Given the description of an element on the screen output the (x, y) to click on. 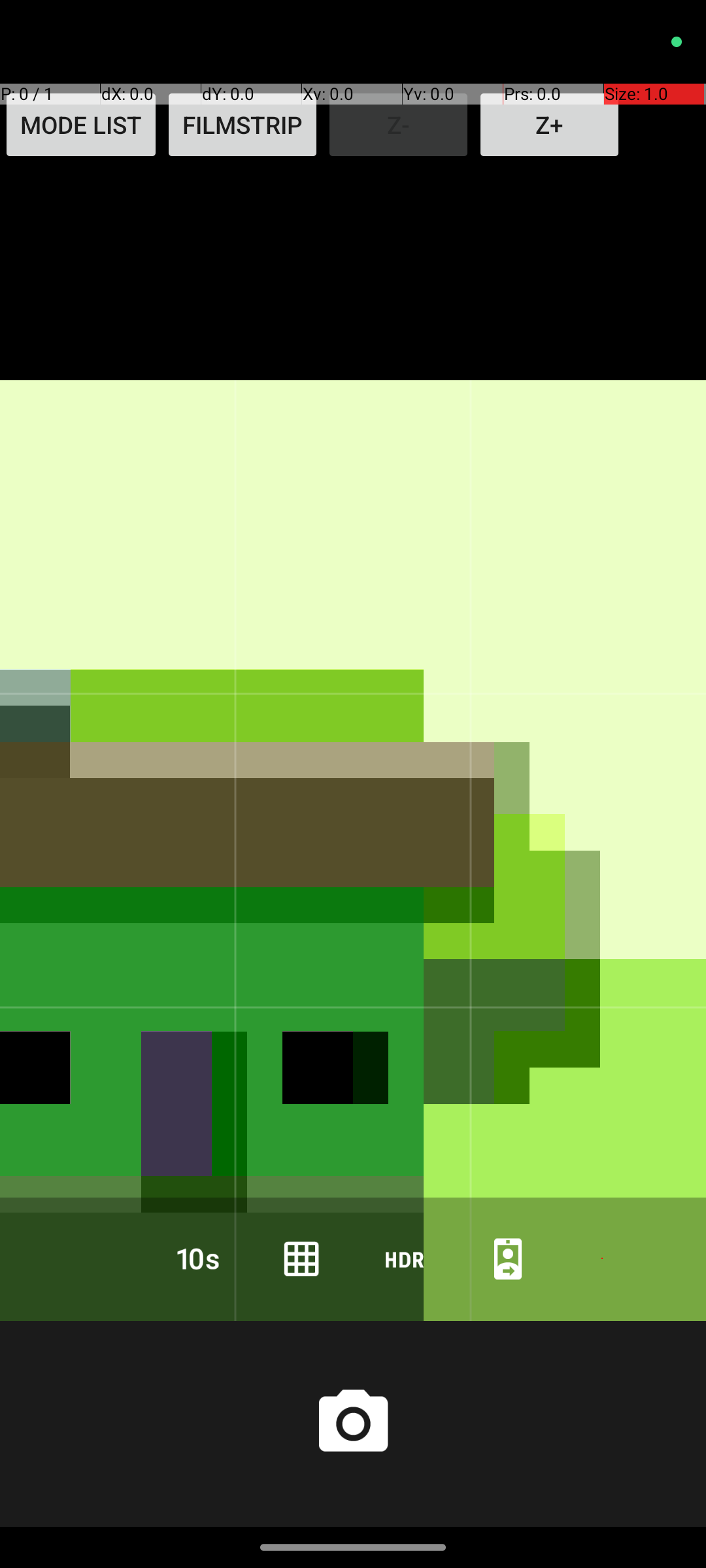
Countdown timer duration is set to 10 seconds Element type: android.widget.ImageButton (197, 1258)
Grid lines on Element type: android.widget.ImageButton (301, 1258)
HDR on Element type: android.widget.ImageButton (404, 1258)
Front camera Element type: android.widget.ImageButton (507, 1258)
